Given the description of an element on the screen output the (x, y) to click on. 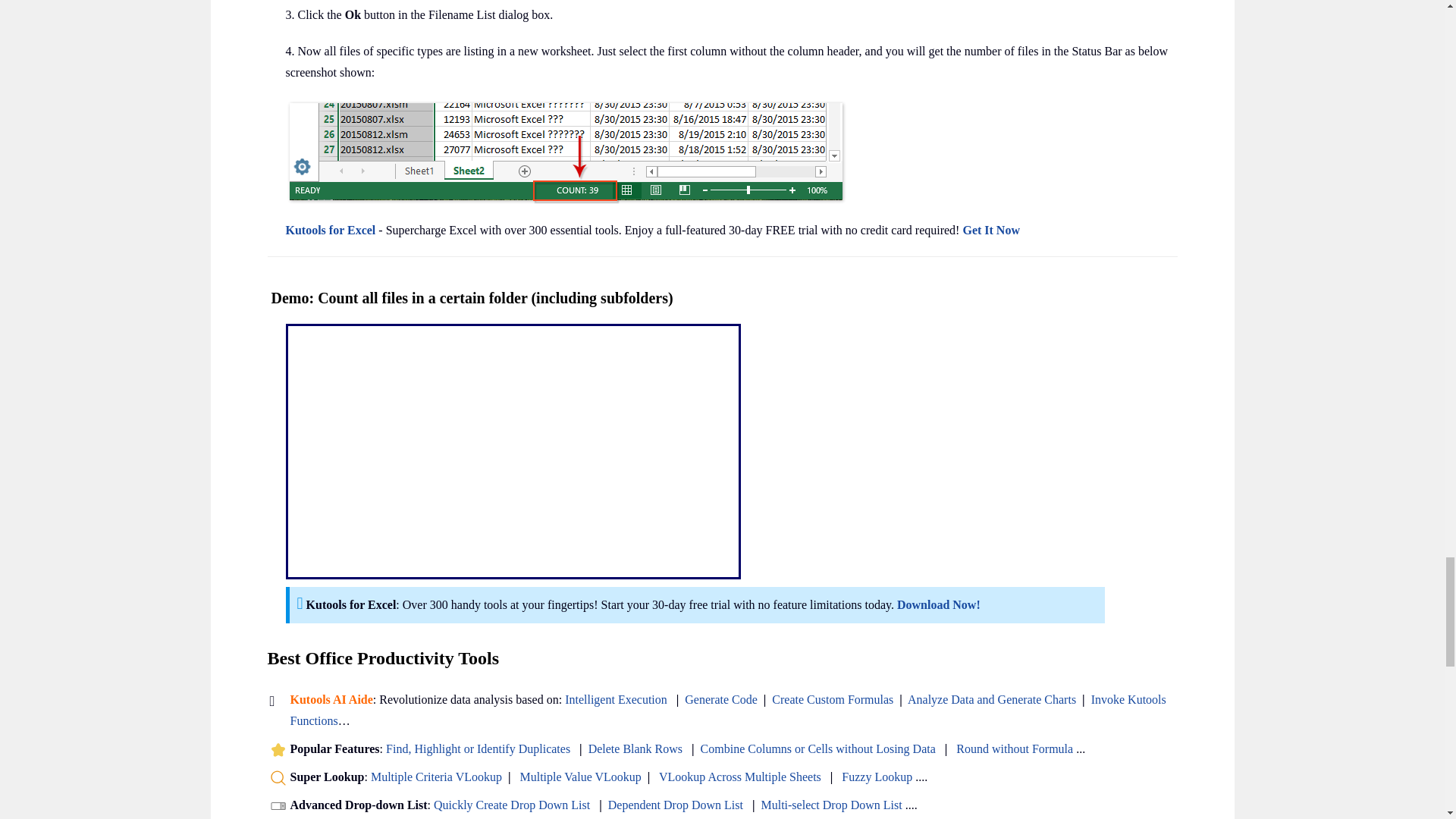
Click for free trial (937, 604)
